Given the description of an element on the screen output the (x, y) to click on. 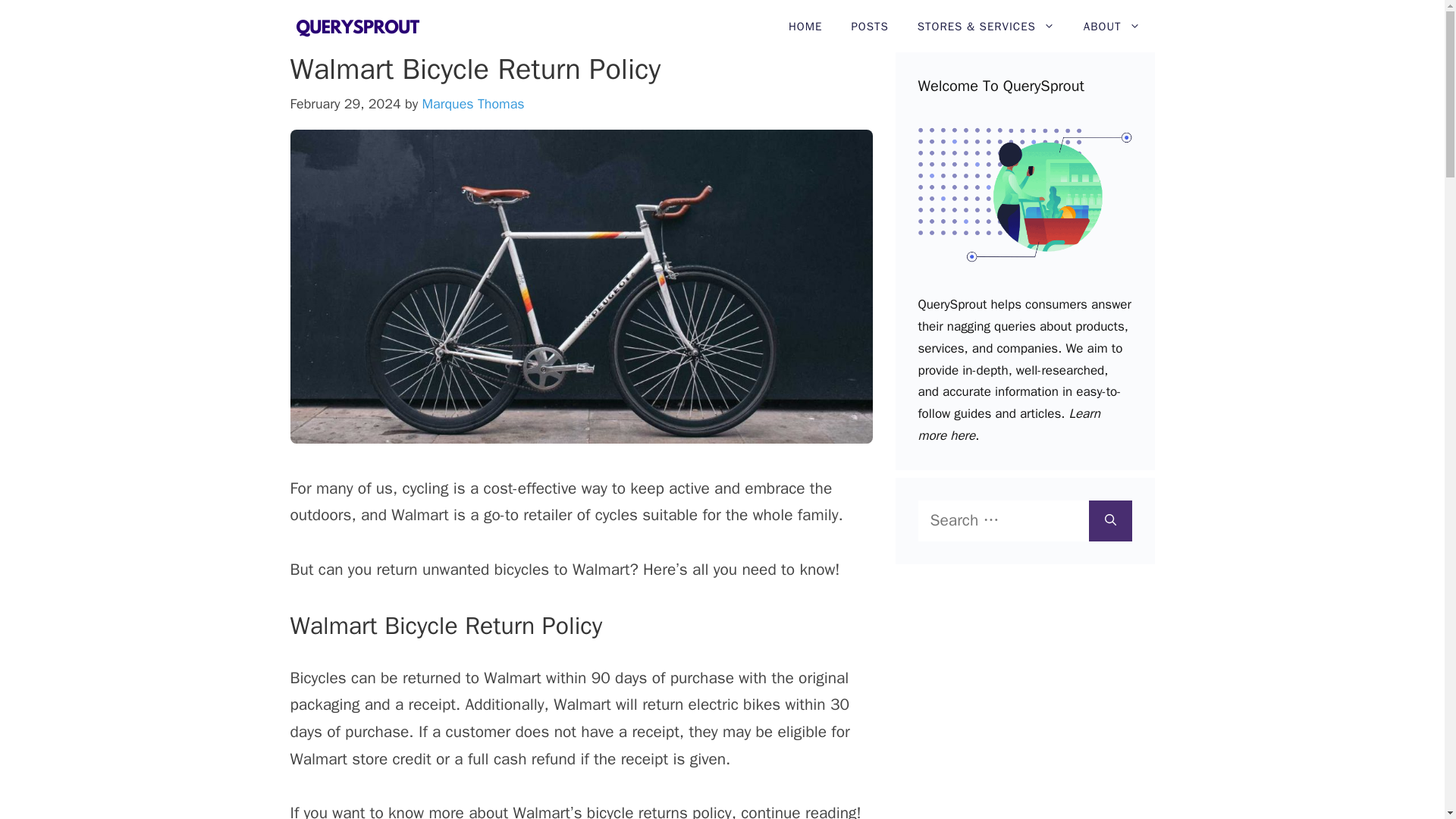
Search for: (1002, 520)
HOME (804, 26)
Marques Thomas (473, 103)
Learn more here (1008, 424)
POSTS (868, 26)
View all posts by Marques Thomas (473, 103)
ABOUT (1111, 26)
